Given the description of an element on the screen output the (x, y) to click on. 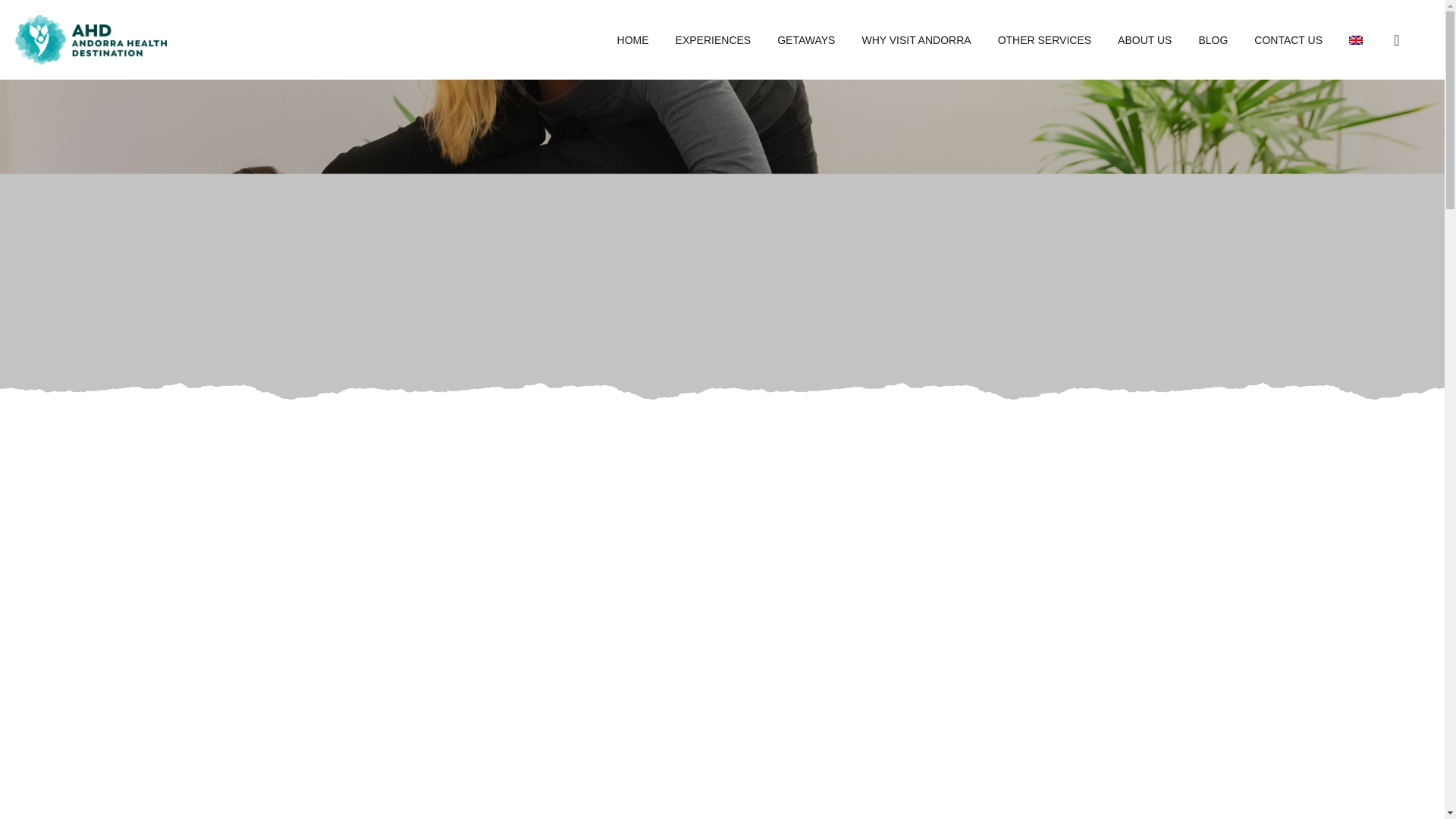
CONTACT US (1287, 38)
GETAWAYS (805, 38)
EXPERIENCES (713, 38)
OTHER SERVICES (1043, 38)
WHY VISIT ANDORRA (916, 38)
ABOUT US (1145, 38)
